Given the description of an element on the screen output the (x, y) to click on. 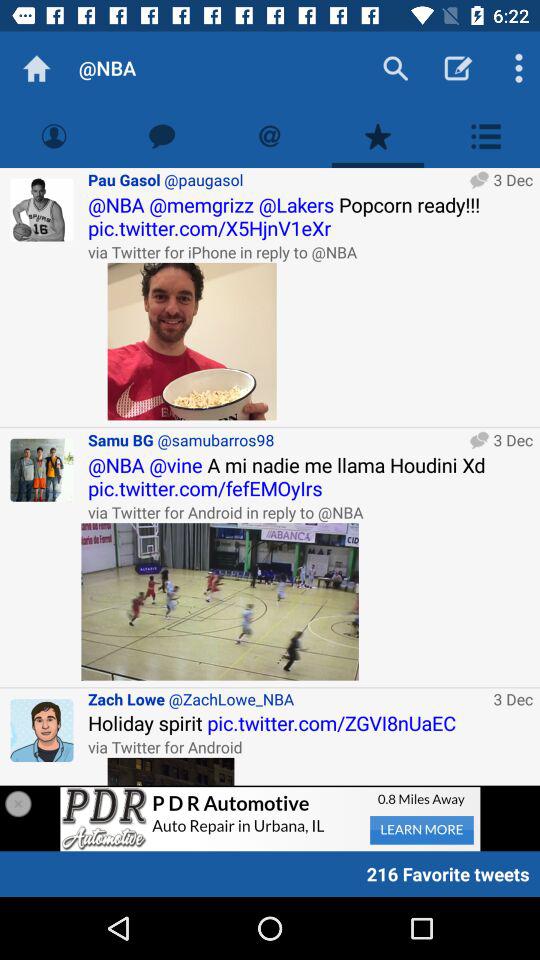
launch item next to the @nba app (36, 68)
